Given the description of an element on the screen output the (x, y) to click on. 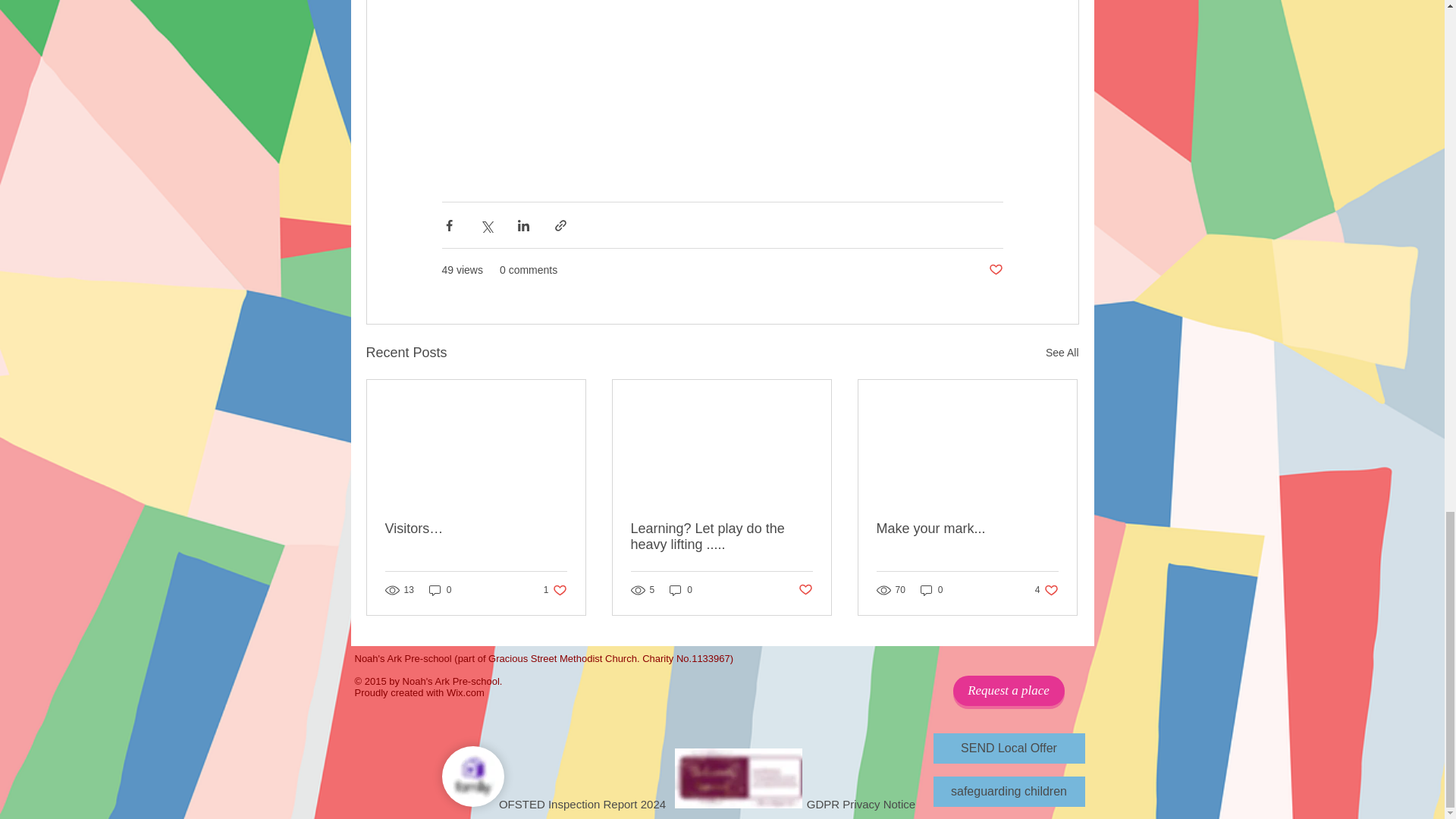
Learning? Let play do the heavy lifting ..... (721, 536)
Post not marked as liked (995, 270)
OFSTED Inspection Report 2024 (582, 781)
Make your mark... (967, 528)
Request a place (1008, 690)
0 (681, 589)
GDPR Privacy Notice (860, 776)
See All (1046, 589)
0 (1061, 352)
Working Towards Logo (931, 589)
Post not marked as liked (738, 778)
0 (804, 590)
Wix.com (440, 589)
